Given the description of an element on the screen output the (x, y) to click on. 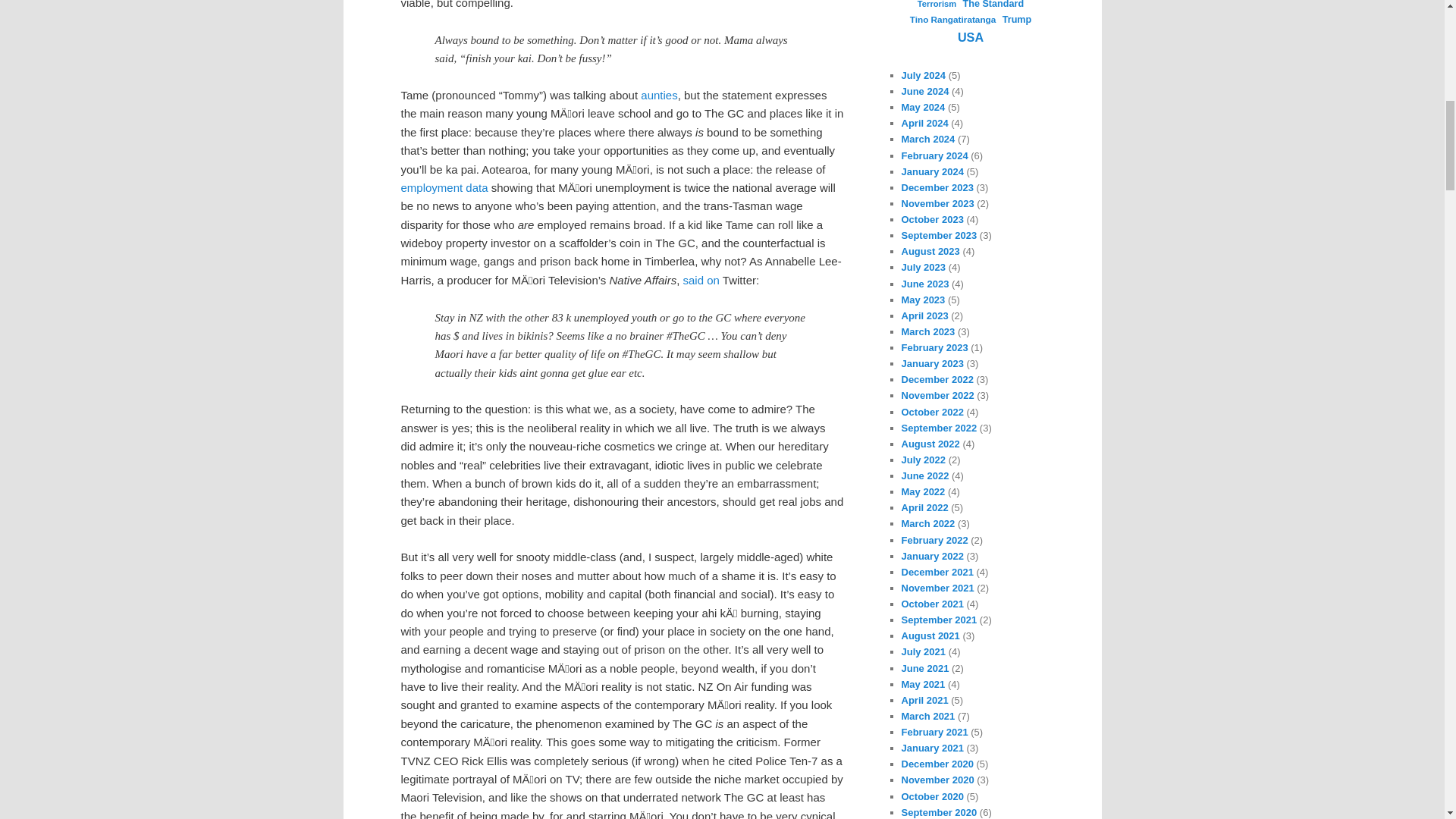
said (693, 279)
aunties (658, 94)
on (712, 279)
employment data (443, 187)
